Given the description of an element on the screen output the (x, y) to click on. 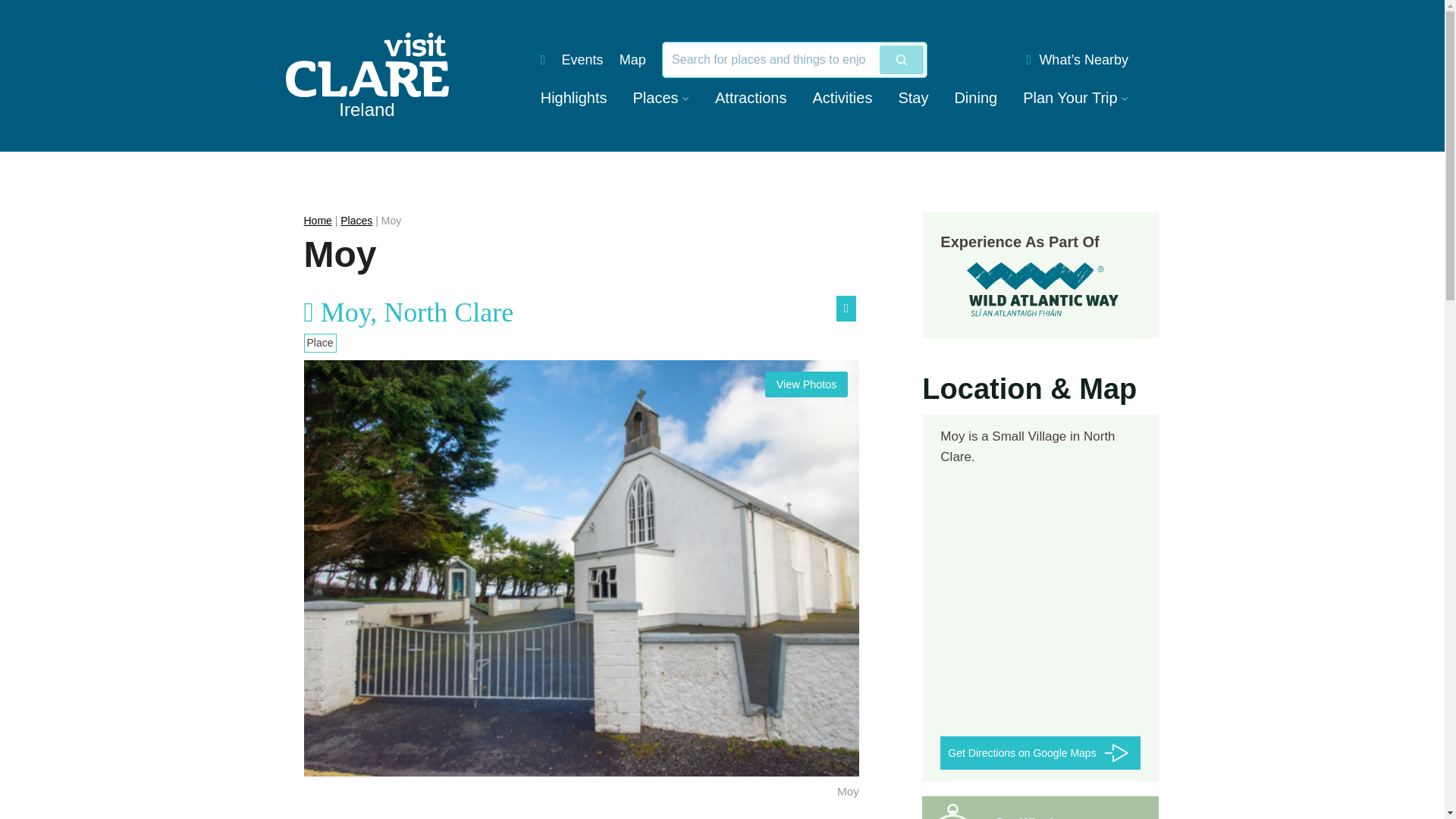
Activities (842, 97)
Plan Your Trip (1070, 97)
Dining (975, 97)
Map (633, 60)
Attractions (750, 97)
Highlights (573, 97)
Places (655, 97)
Stay (913, 97)
Ireland (366, 75)
Events (583, 60)
